Given the description of an element on the screen output the (x, y) to click on. 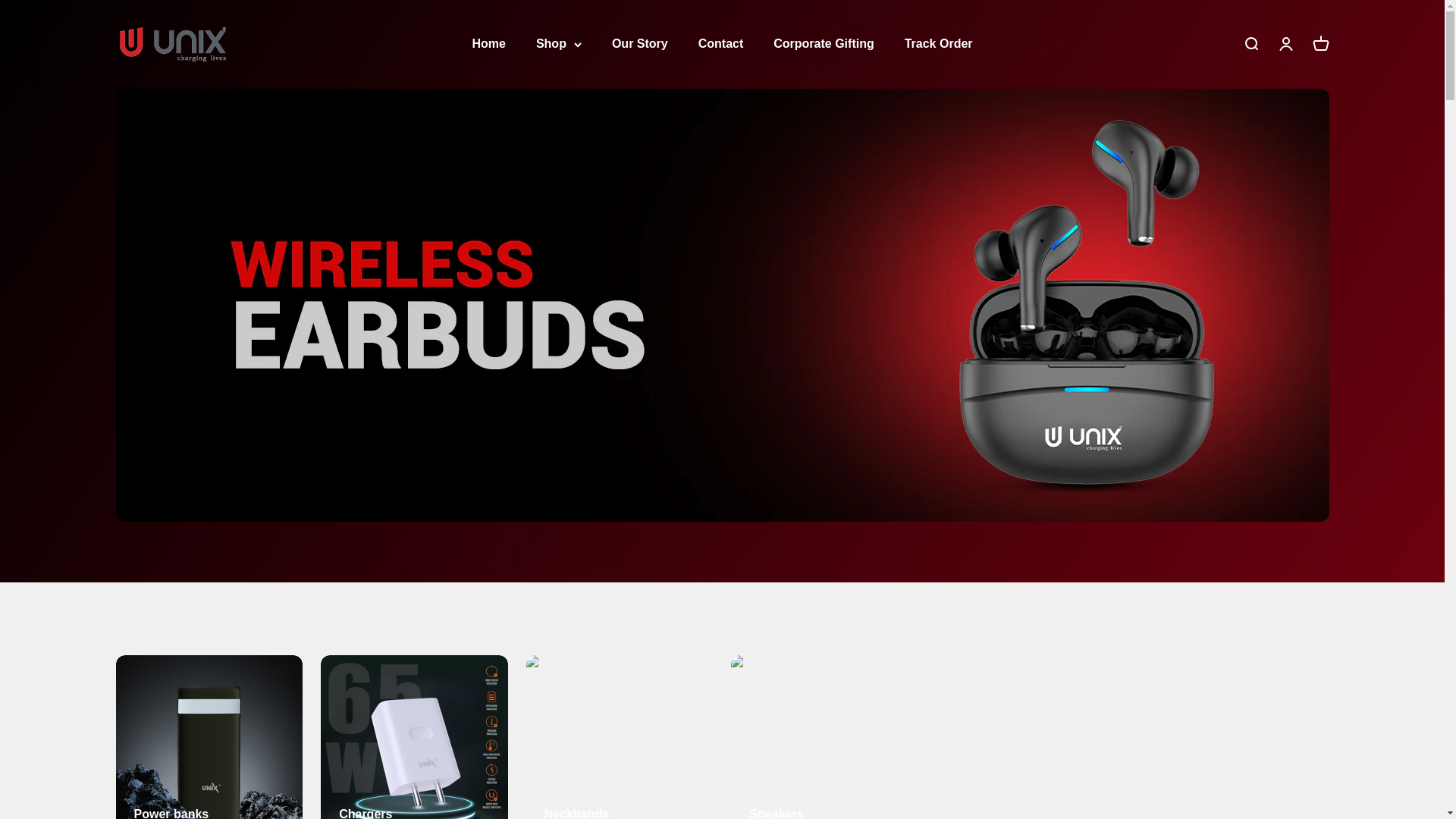
Our Story (639, 42)
Track Order (938, 42)
Home (1319, 44)
Open search (488, 42)
Unixindia. (1250, 44)
Corporate Gifting (1285, 44)
Contact (171, 44)
